Given the description of an element on the screen output the (x, y) to click on. 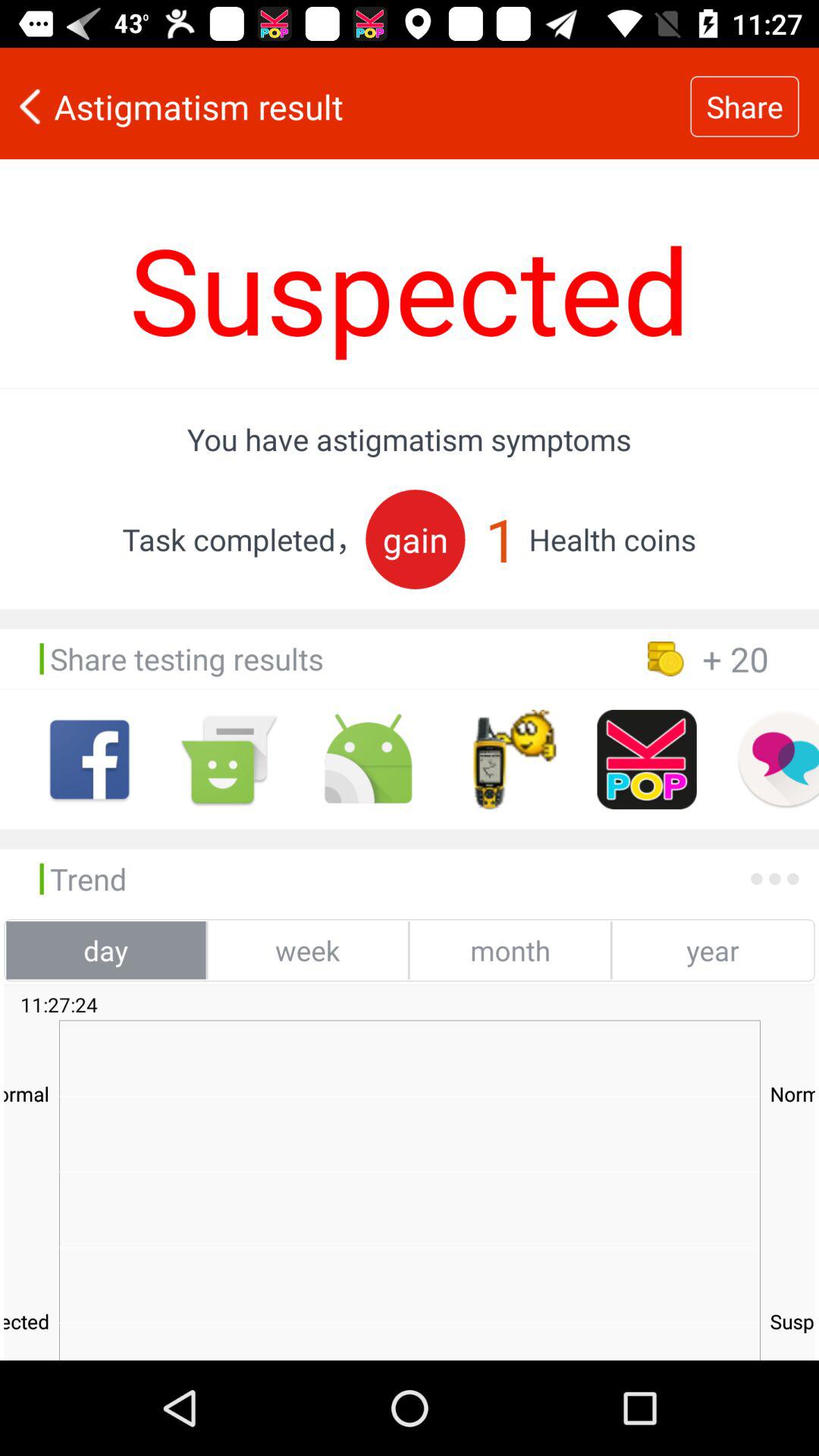
send message (228, 759)
